Given the description of an element on the screen output the (x, y) to click on. 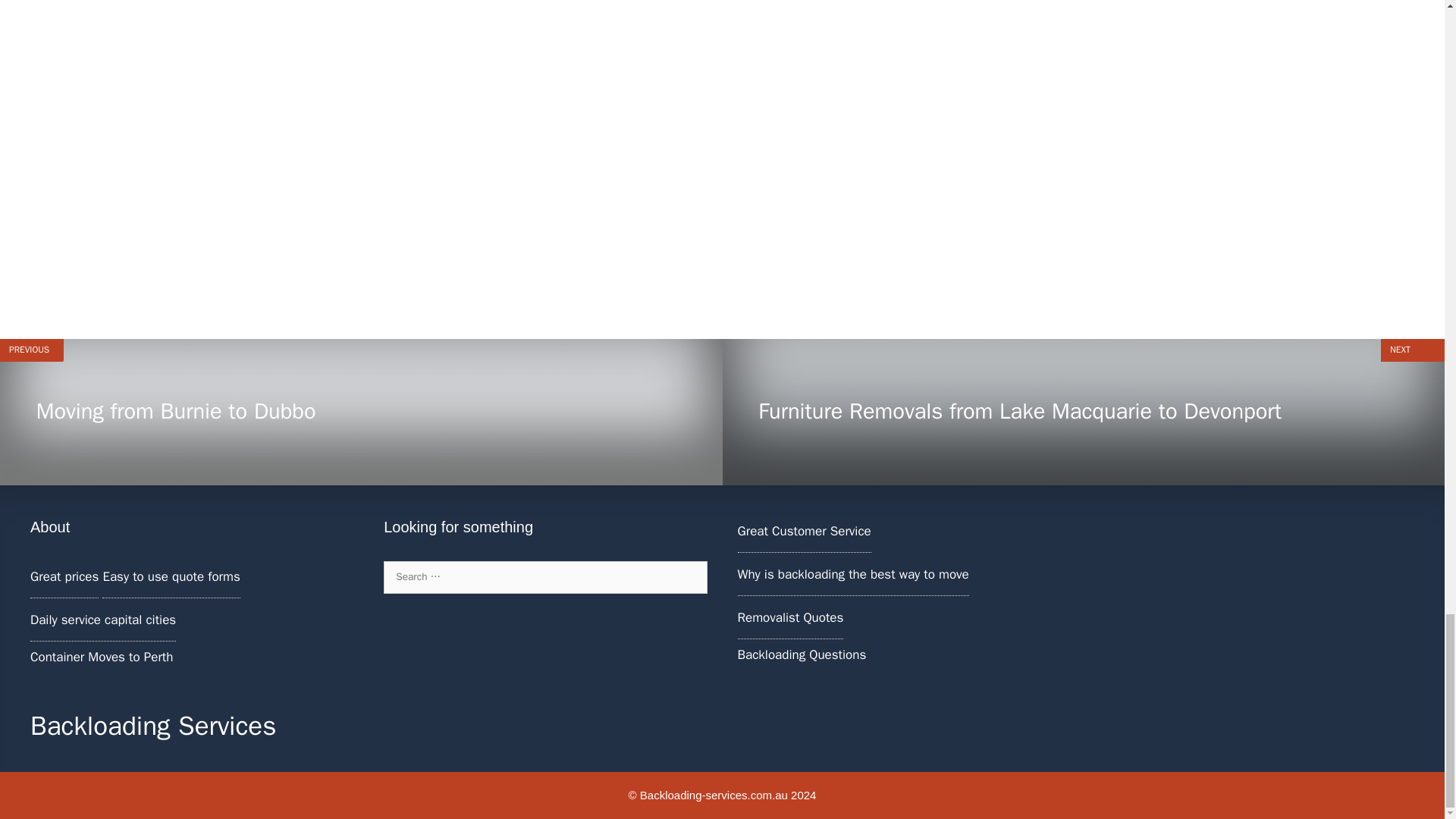
Search for: (361, 412)
Backloading Questions (545, 576)
Removalist Quotes (801, 654)
Why is backloading the best way to move (789, 617)
Great Customer Service (852, 574)
